Given the description of an element on the screen output the (x, y) to click on. 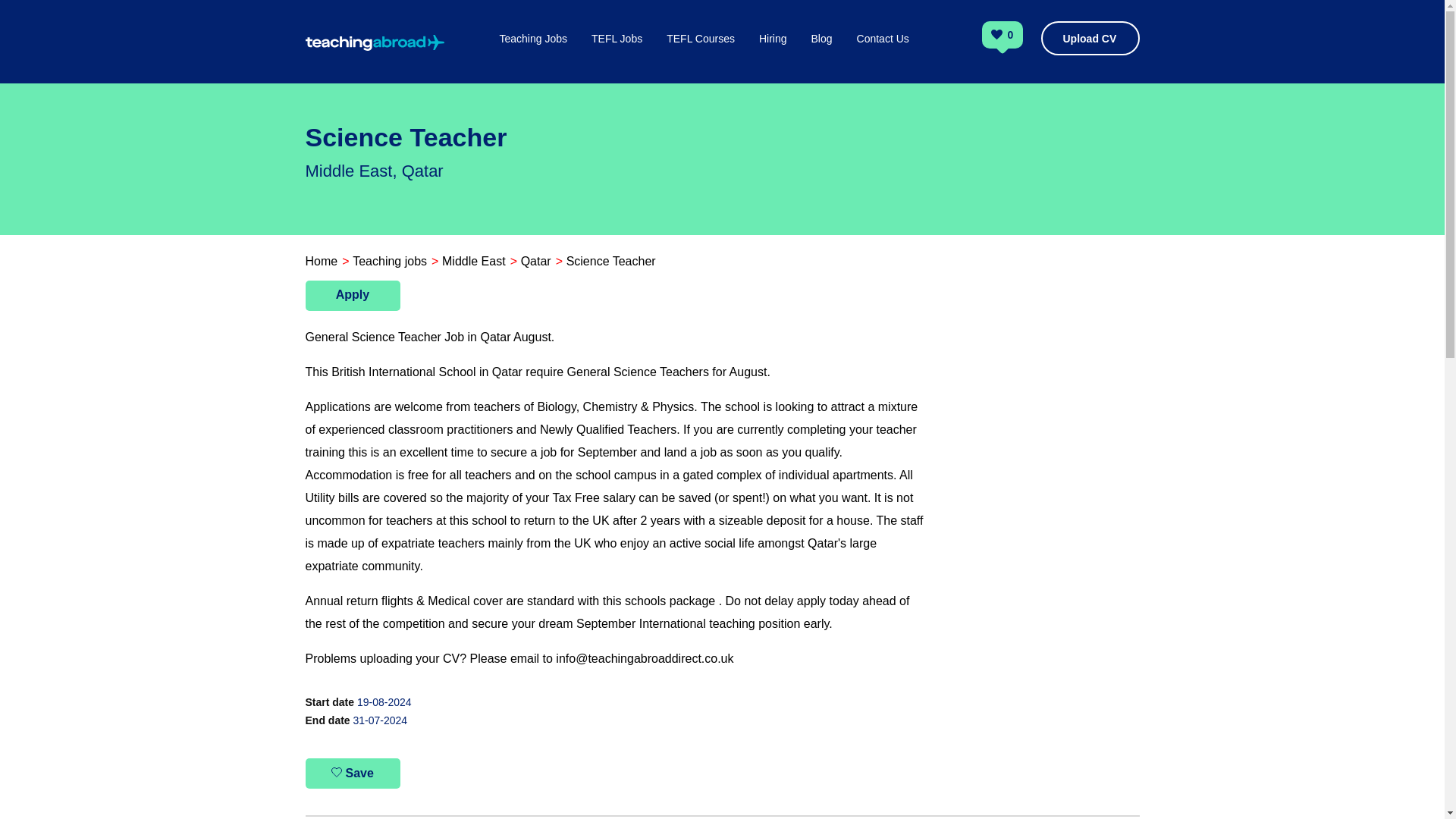
Home (320, 260)
Middle East (473, 260)
TEFL Courses (700, 55)
TEFL Jobs (616, 55)
Teaching Jobs (533, 55)
Contact Us (882, 55)
0 (1011, 36)
Upload CV (1089, 38)
Teaching jobs (389, 260)
Apply (351, 295)
Qatar (536, 260)
